Given the description of an element on the screen output the (x, y) to click on. 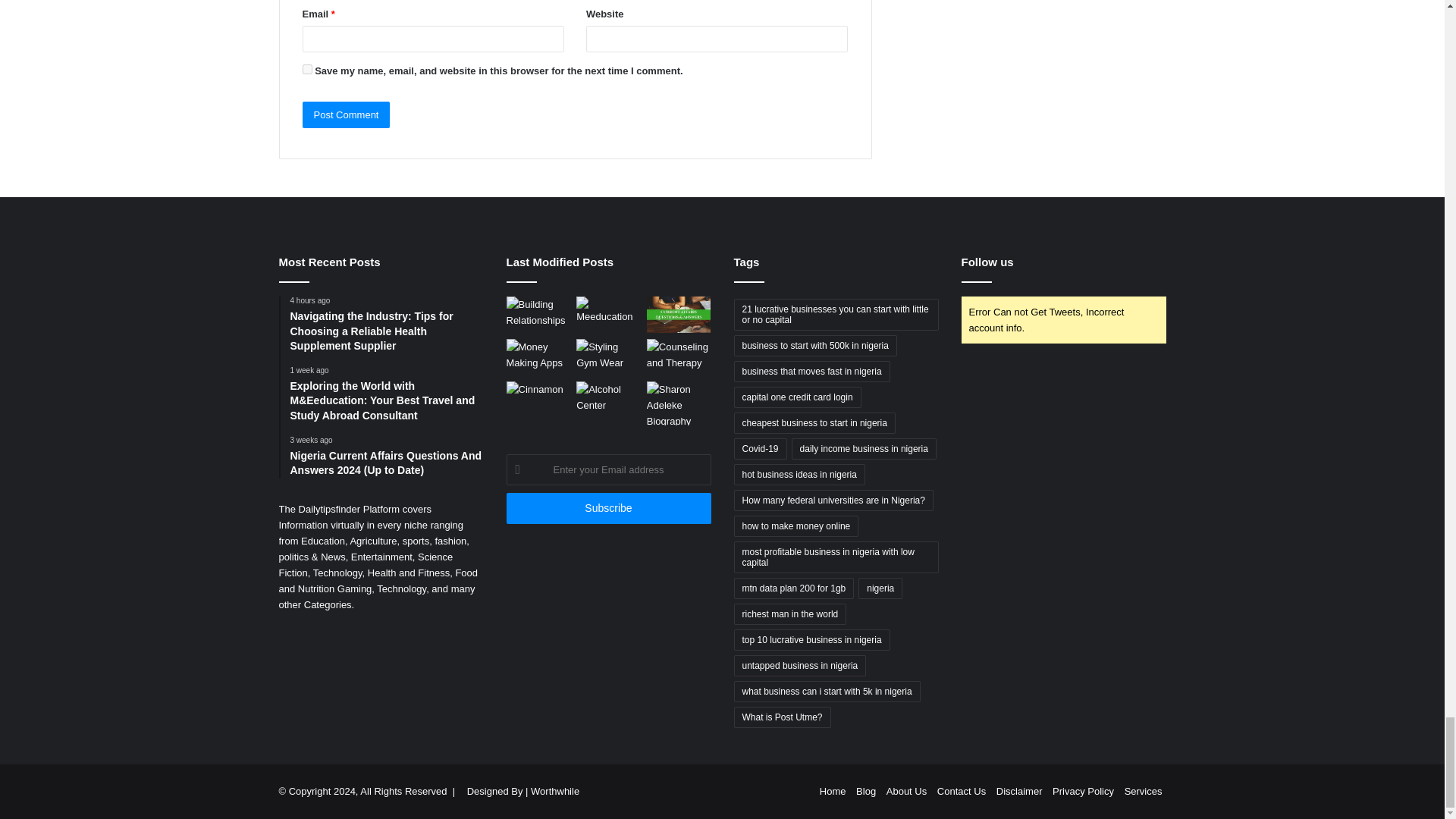
Subscribe (608, 508)
yes (306, 69)
Post Comment (345, 114)
